Given the description of an element on the screen output the (x, y) to click on. 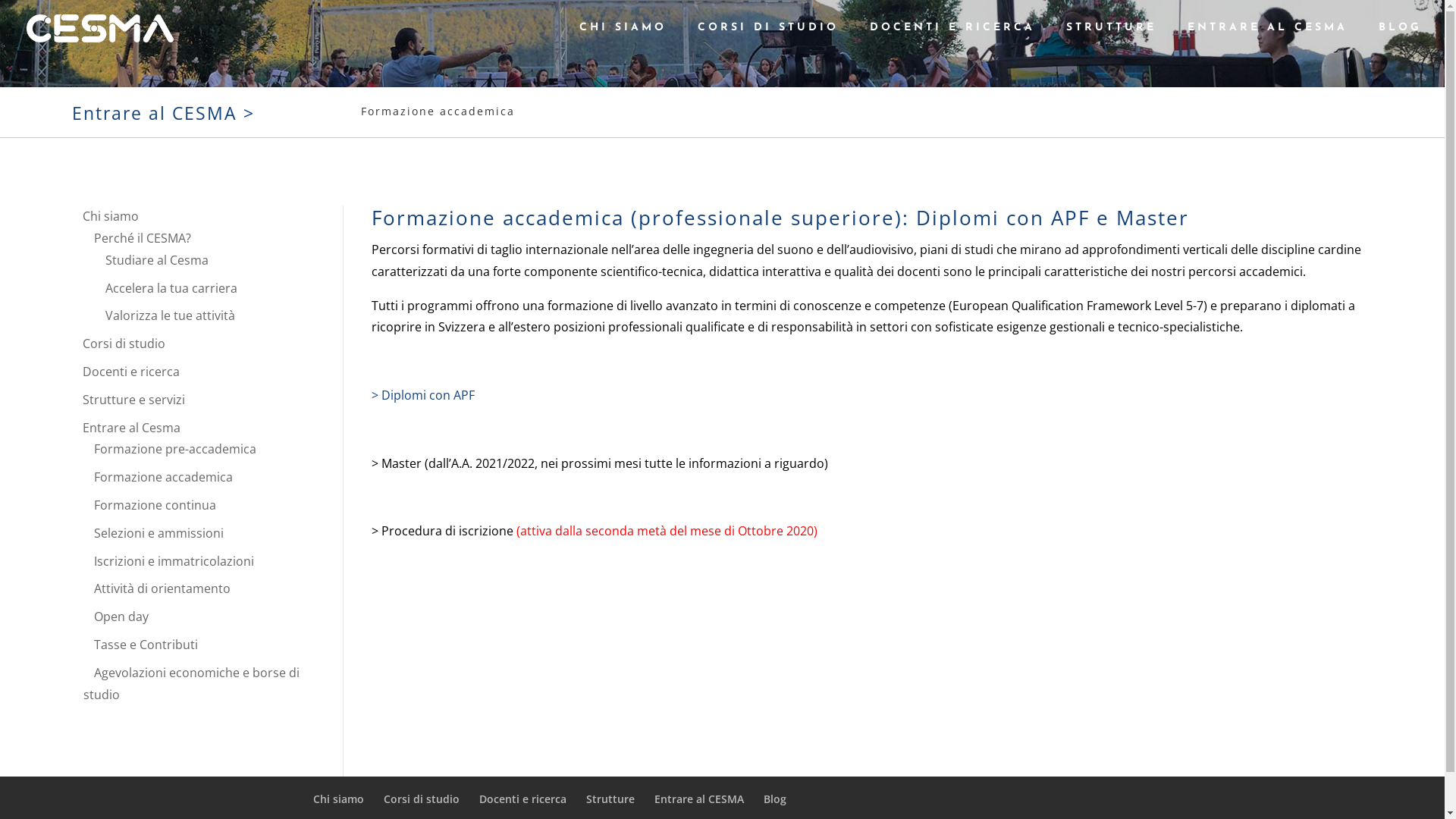
ENTRARE AL CESMA Element type: text (1267, 39)
Corsi di studio Element type: text (421, 798)
DOCENTI E RICERCA Element type: text (952, 39)
Docenti e ricerca Element type: text (522, 798)
Chi siamo Element type: text (337, 798)
BLOG Element type: text (1399, 39)
Entrare al CESMA Element type: text (698, 798)
Strutture Element type: text (609, 798)
CHI SIAMO Element type: text (622, 39)
> Diplomi con APF Element type: text (422, 394)
STRUTTURE Element type: text (1111, 39)
Blog Element type: text (773, 798)
CORSI DI STUDIO Element type: text (767, 39)
